Given the description of an element on the screen output the (x, y) to click on. 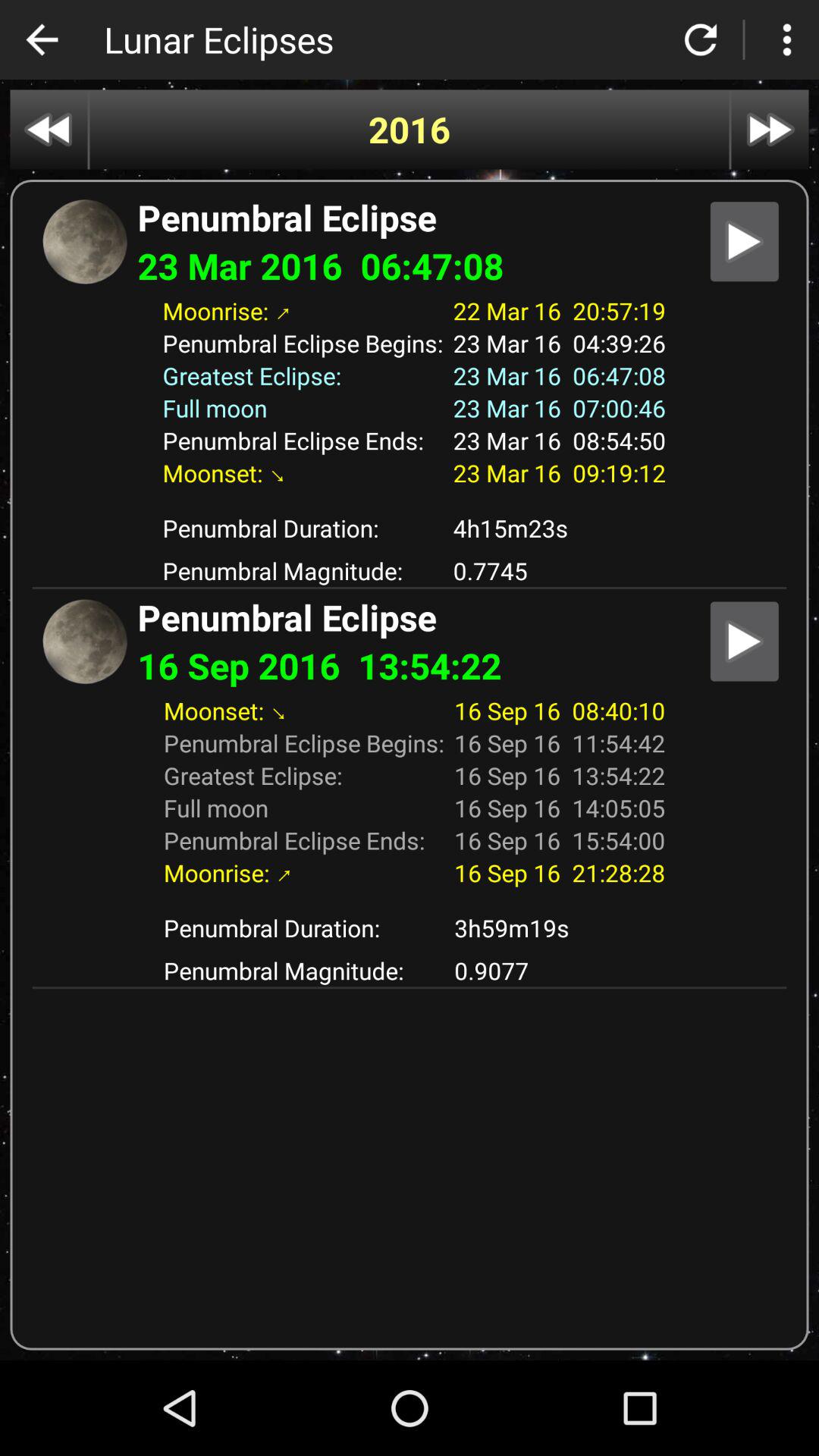
click the icon to the right of the penumbral duration: app (559, 527)
